Given the description of an element on the screen output the (x, y) to click on. 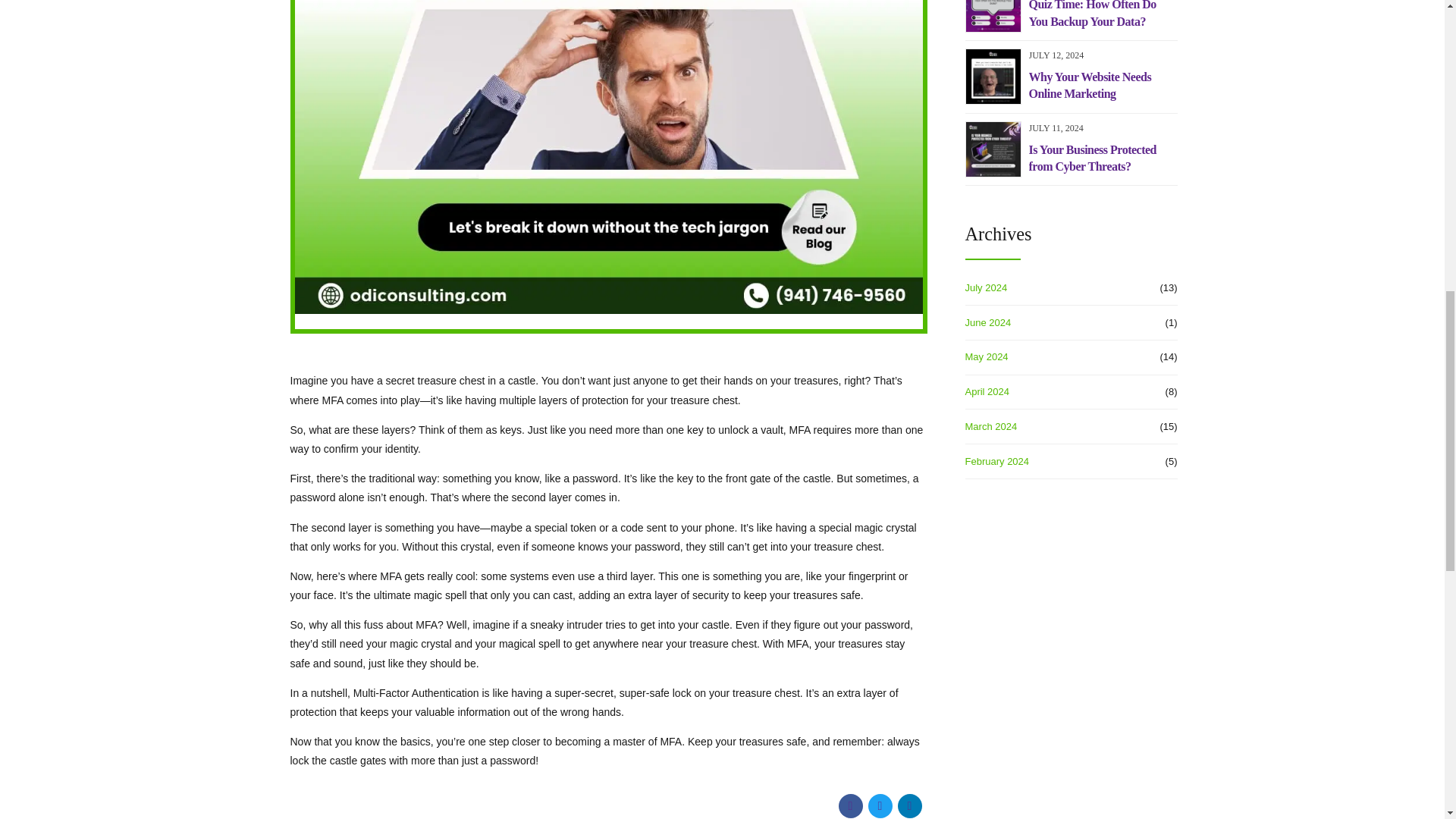
Is Your Business Protected from Cyber Threats? (1101, 158)
Quiz Time: How Often Do You Backup Your Data? (1101, 15)
Why Your Website Needs Online Marketing (1101, 85)
